Given the description of an element on the screen output the (x, y) to click on. 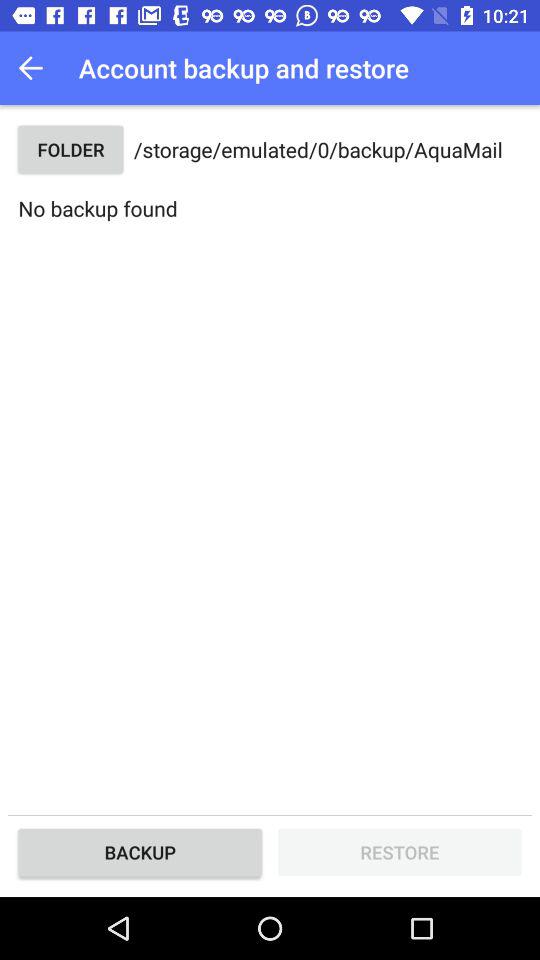
press the item to the left of the storage emulated 0 icon (70, 149)
